Given the description of an element on the screen output the (x, y) to click on. 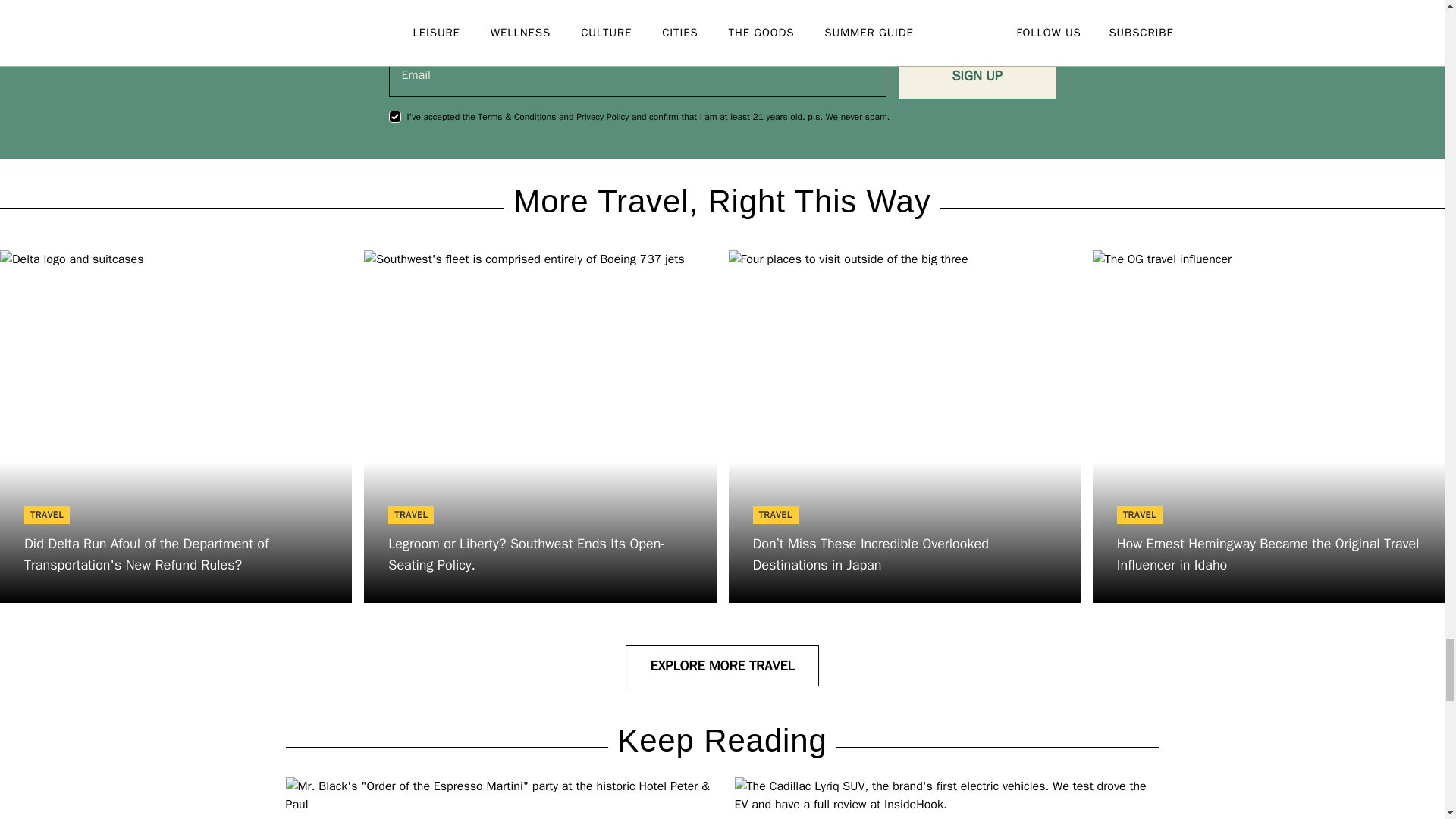
on (394, 116)
